Given the description of an element on the screen output the (x, y) to click on. 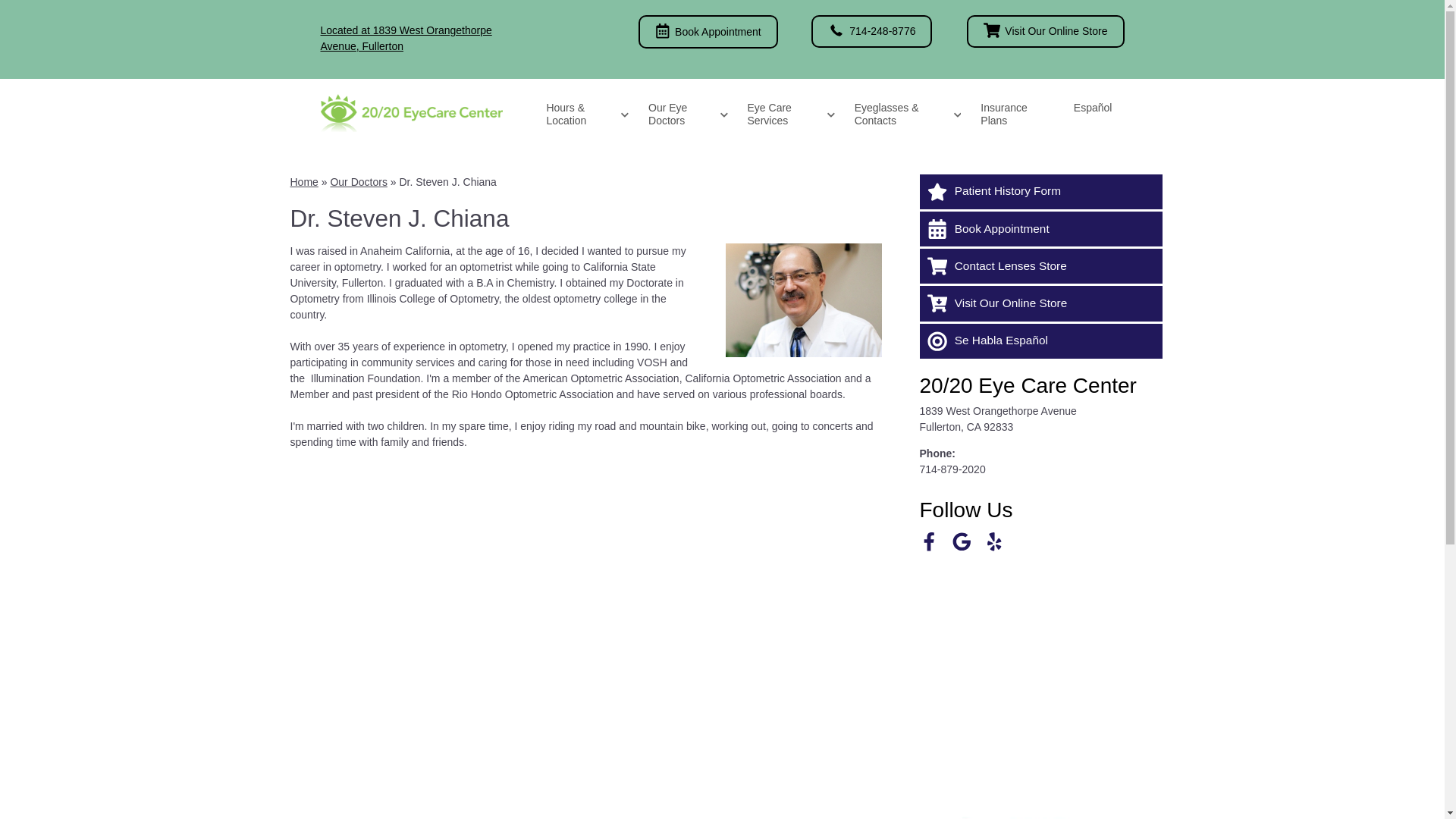
Book Appointment Element type: text (707, 31)
Located at 1839 West Orangethorpe Avenue, Fullerton Element type: text (405, 38)
714-879-2020 Element type: text (952, 469)
Patient History Form Element type: text (1040, 191)
Eyeglasses & Contacts Element type: text (905, 114)
20/20 Eye Care Center Element type: text (1027, 385)
Contact Lenses Store Element type: text (1040, 265)
Eye Care Services Element type: text (788, 114)
Home Element type: text (303, 181)
Insurance Plans Element type: text (1014, 114)
714-248-8776 Element type: text (871, 31)
Book Appointment Element type: text (1040, 228)
Visit Our Online Store Element type: text (1040, 302)
Hours & Location Element type: text (584, 114)
Visit Our Online Store Element type: text (1044, 31)
Our Eye Doctors Element type: text (685, 114)
Our Doctors Element type: text (357, 181)
